Given the description of an element on the screen output the (x, y) to click on. 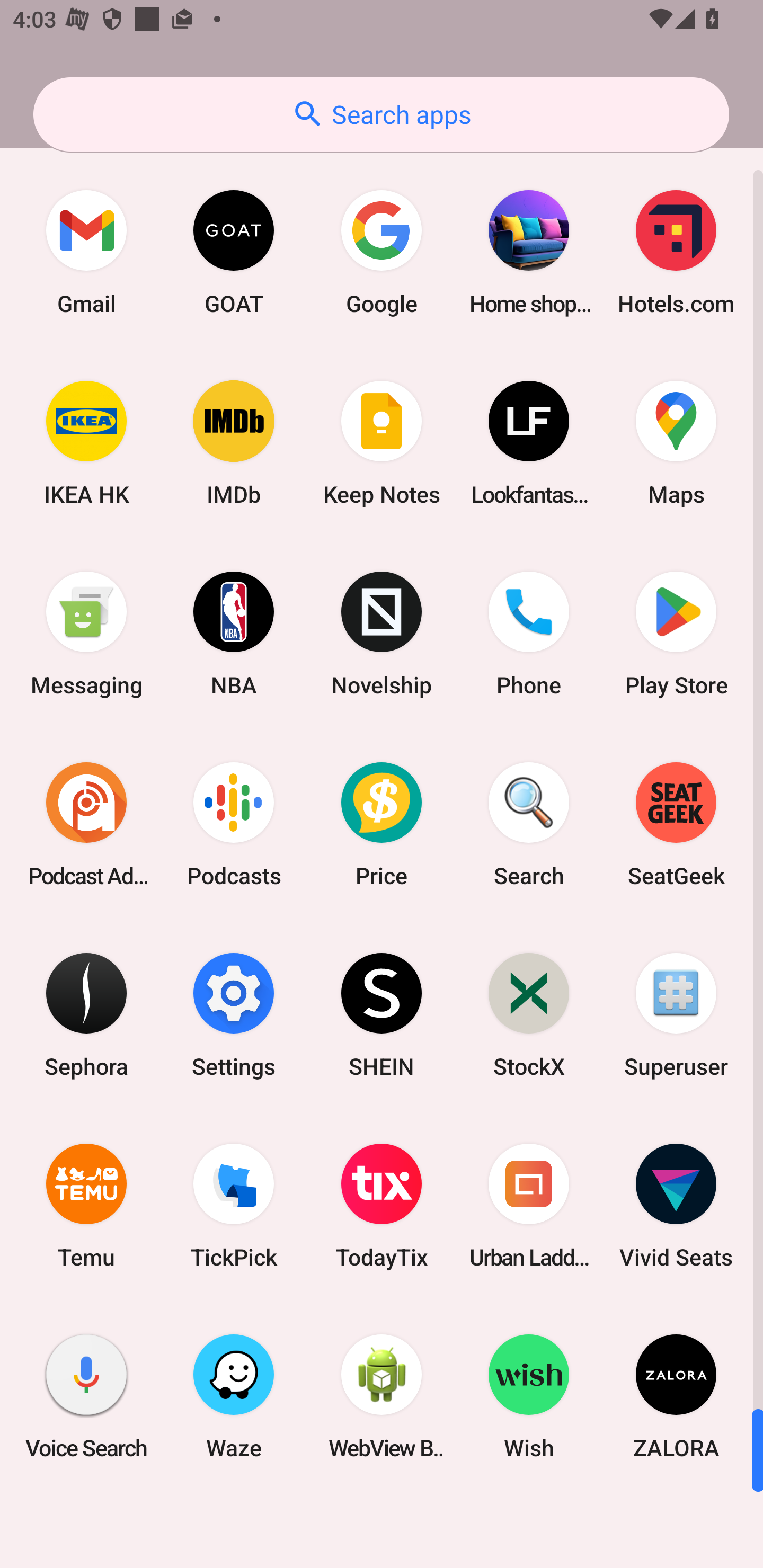
  Search apps (381, 114)
Gmail (86, 252)
GOAT (233, 252)
Google (381, 252)
Home shopping (528, 252)
Hotels.com (676, 252)
IKEA HK (86, 442)
IMDb (233, 442)
Keep Notes (381, 442)
Lookfantastic (528, 442)
Maps (676, 442)
Messaging (86, 633)
NBA (233, 633)
Novelship (381, 633)
Phone (528, 633)
Play Store (676, 633)
Podcast Addict (86, 823)
Podcasts (233, 823)
Price (381, 823)
Search (528, 823)
SeatGeek (676, 823)
Sephora (86, 1014)
Settings (233, 1014)
SHEIN (381, 1014)
StockX (528, 1014)
Superuser (676, 1014)
Temu (86, 1205)
TickPick (233, 1205)
TodayTix (381, 1205)
Urban Ladder (528, 1205)
Vivid Seats (676, 1205)
Voice Search (86, 1396)
Waze (233, 1396)
WebView Browser Tester (381, 1396)
Wish (528, 1396)
ZALORA (676, 1396)
